Given the description of an element on the screen output the (x, y) to click on. 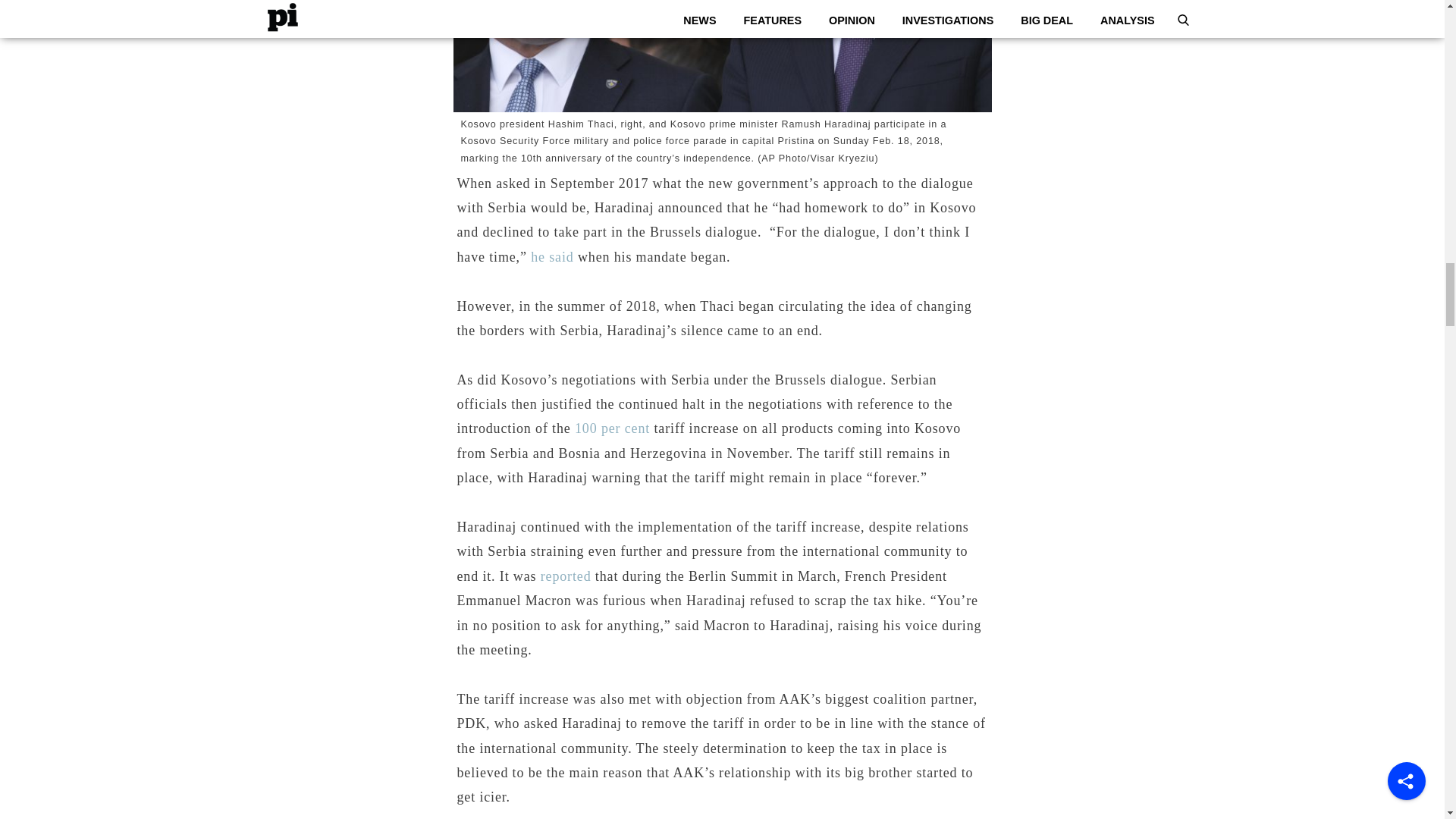
reported (565, 575)
100 per cent (612, 427)
he said (552, 256)
